Given the description of an element on the screen output the (x, y) to click on. 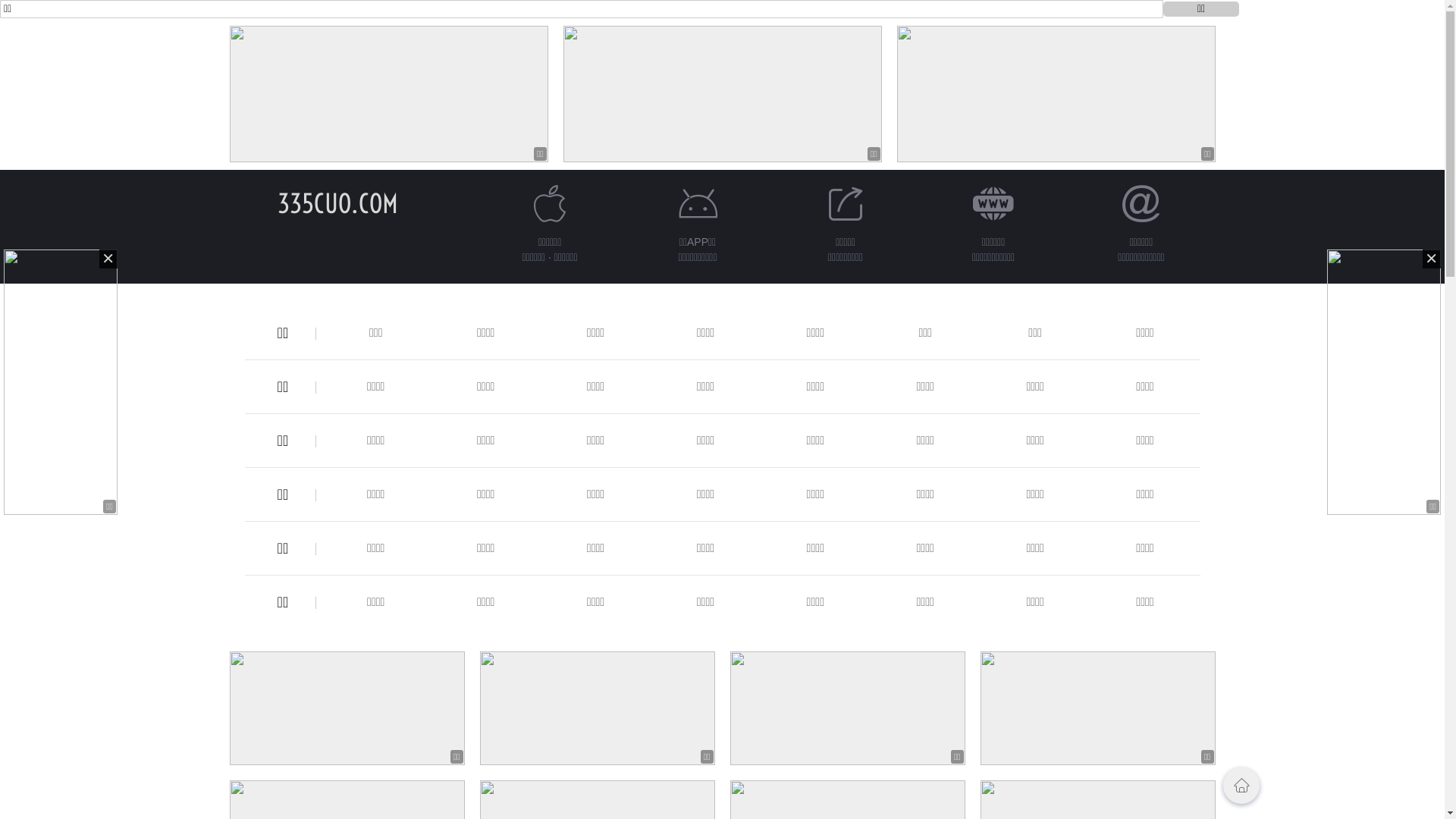
335CUO.COM Element type: text (337, 203)
